Given the description of an element on the screen output the (x, y) to click on. 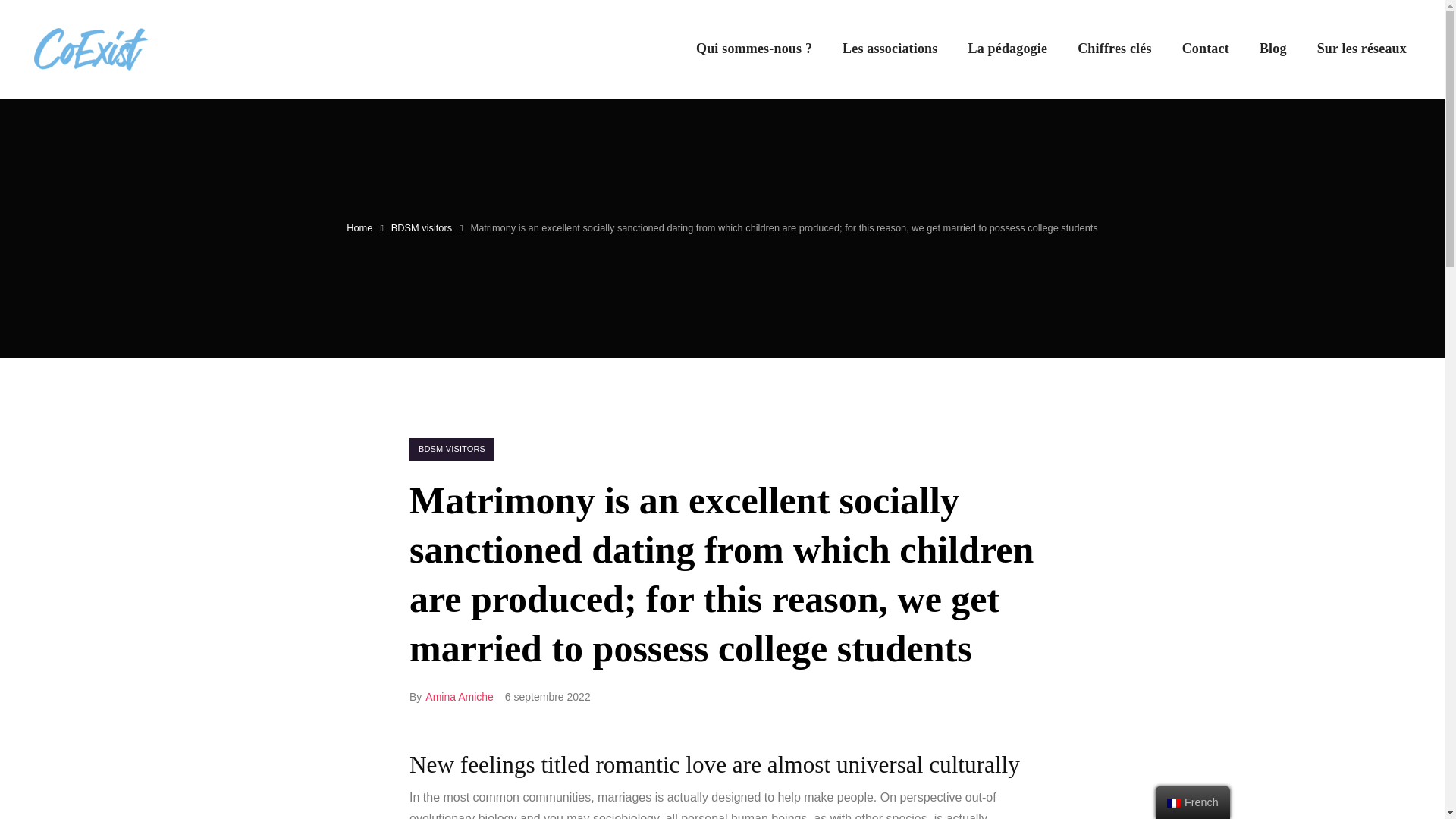
BDSM VISITORS (452, 449)
French (1193, 802)
Amina Amiche (459, 696)
Qui sommes-nous ? (753, 49)
Les associations (890, 49)
BDSM visitors (421, 227)
French (1173, 802)
Home (359, 227)
Articles par Amina Amiche (459, 696)
